Given the description of an element on the screen output the (x, y) to click on. 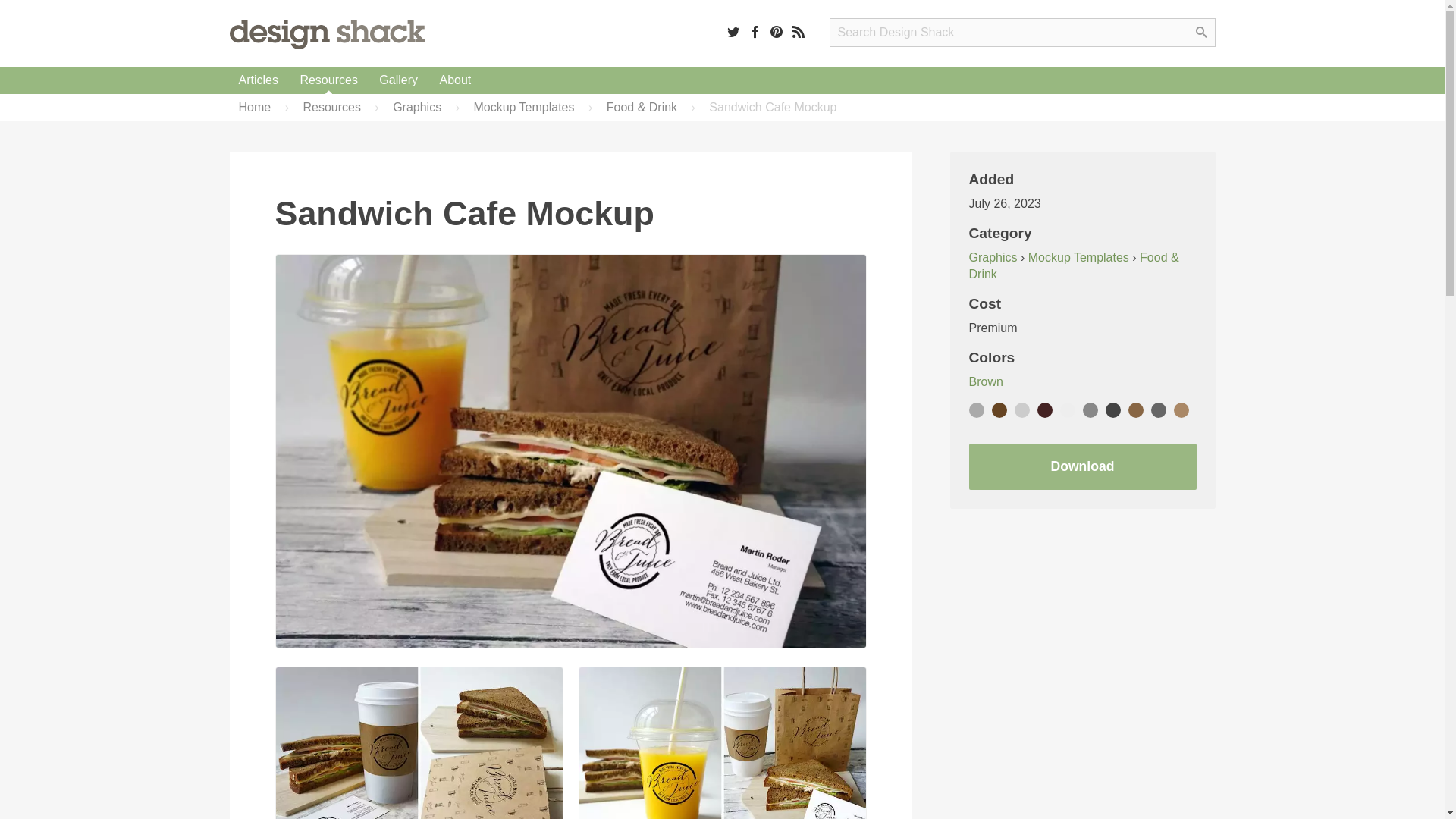
Facebook (755, 31)
Articles (257, 80)
Articles (257, 80)
Design Shack (326, 34)
Pinterest (776, 31)
Search Design Shack (1022, 32)
RSS Feed (797, 31)
Search Design Shack (1022, 32)
